Given the description of an element on the screen output the (x, y) to click on. 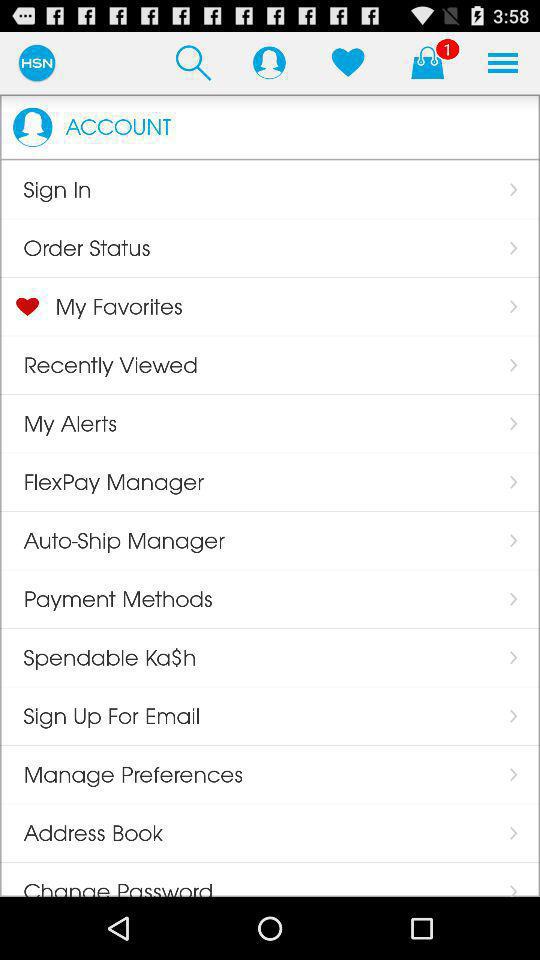
select app above payment methods (112, 540)
